Given the description of an element on the screen output the (x, y) to click on. 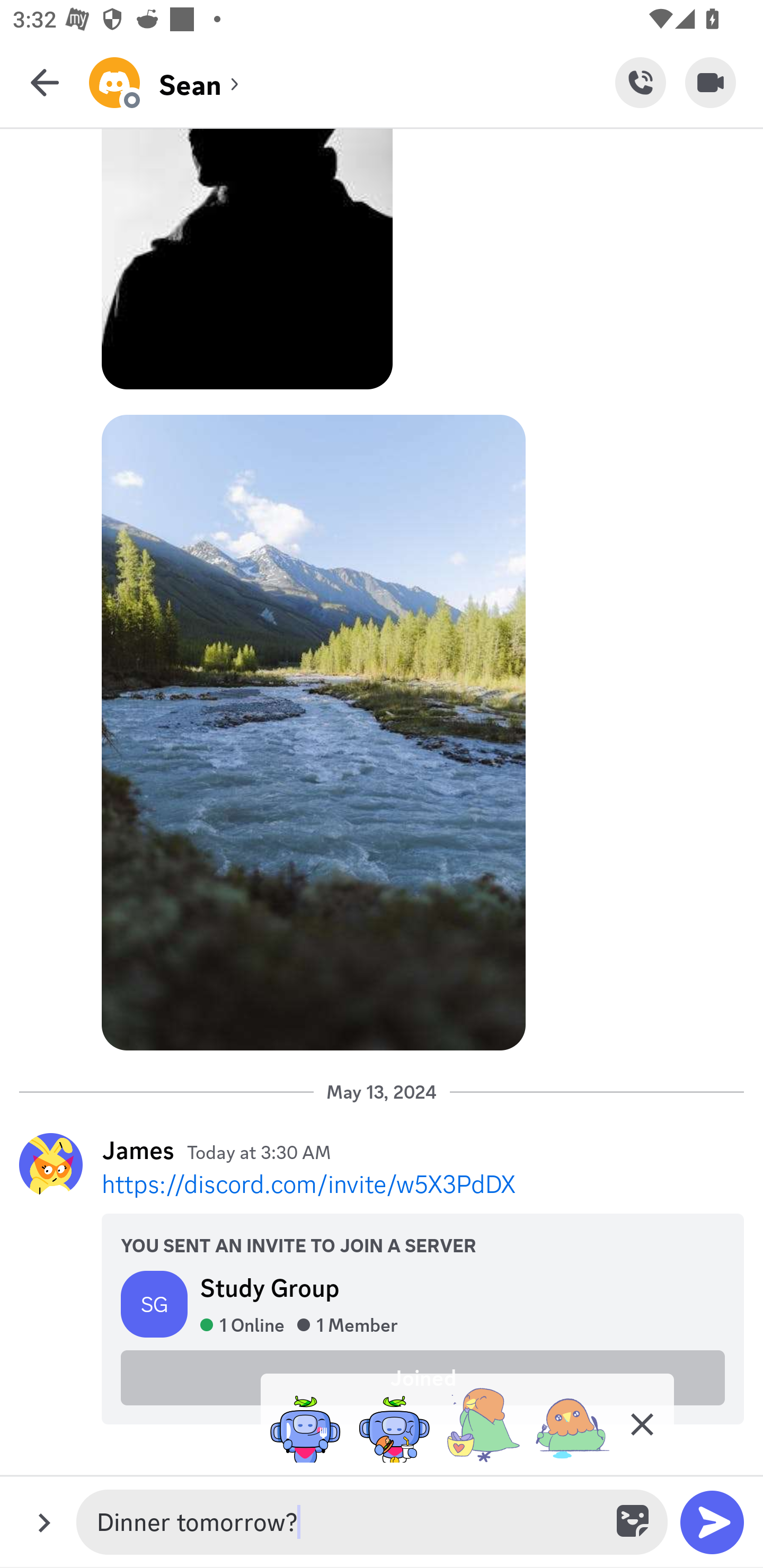
Sean (channel) Sean Sean (channel) (351, 82)
Back (44, 82)
Start Voice Call (640, 82)
Start Video Call (710, 82)
James (137, 1149)
Joined (422, 1377)
More (44, 1522)
Send (711, 1522)
Dinner tomorrow? (347, 1522)
Toggle emoji keyboard (634, 1522)
